Given the description of an element on the screen output the (x, y) to click on. 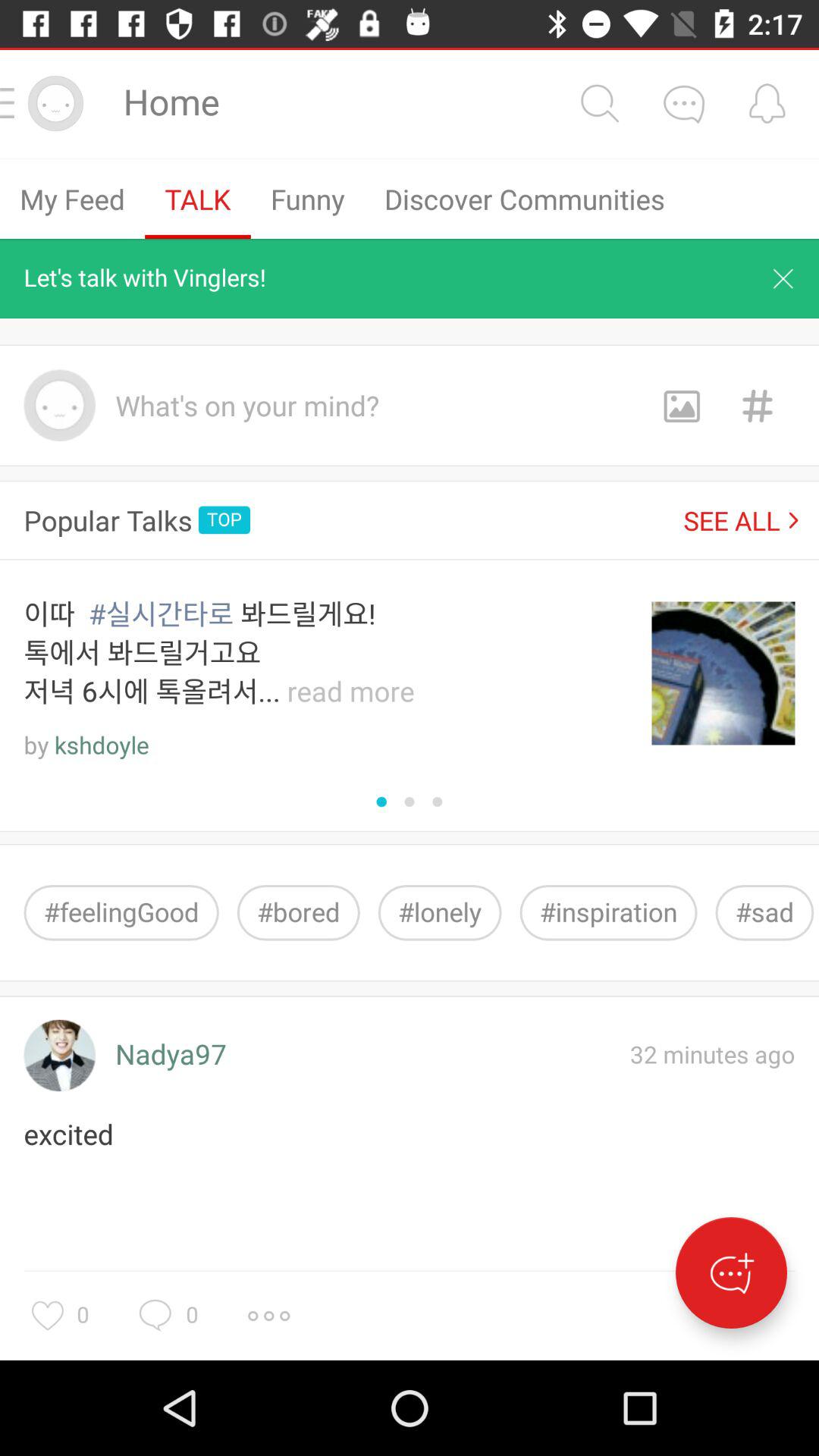
more options (268, 1315)
